Given the description of an element on the screen output the (x, y) to click on. 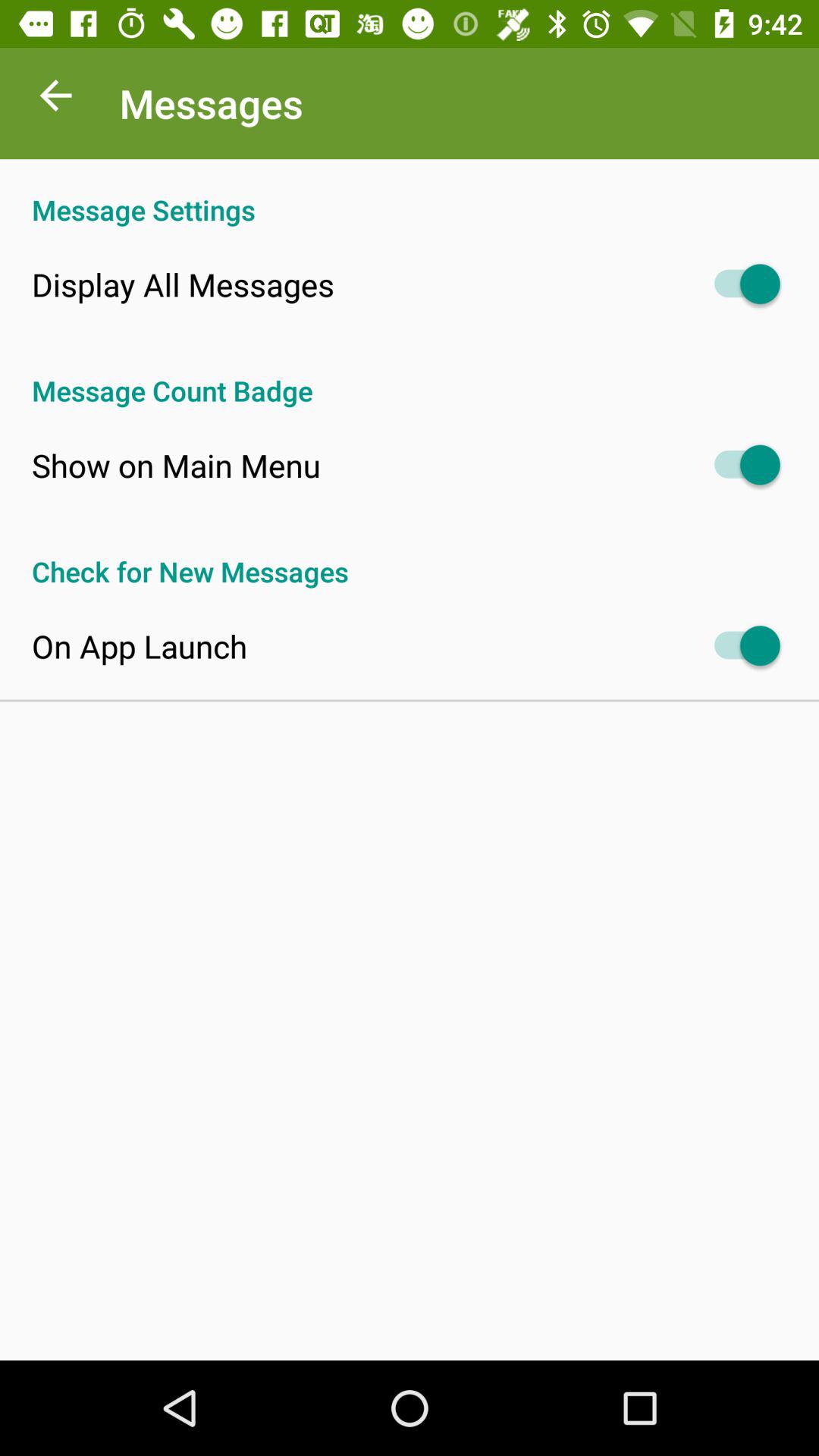
turn off the item above the message settings icon (55, 99)
